Given the description of an element on the screen output the (x, y) to click on. 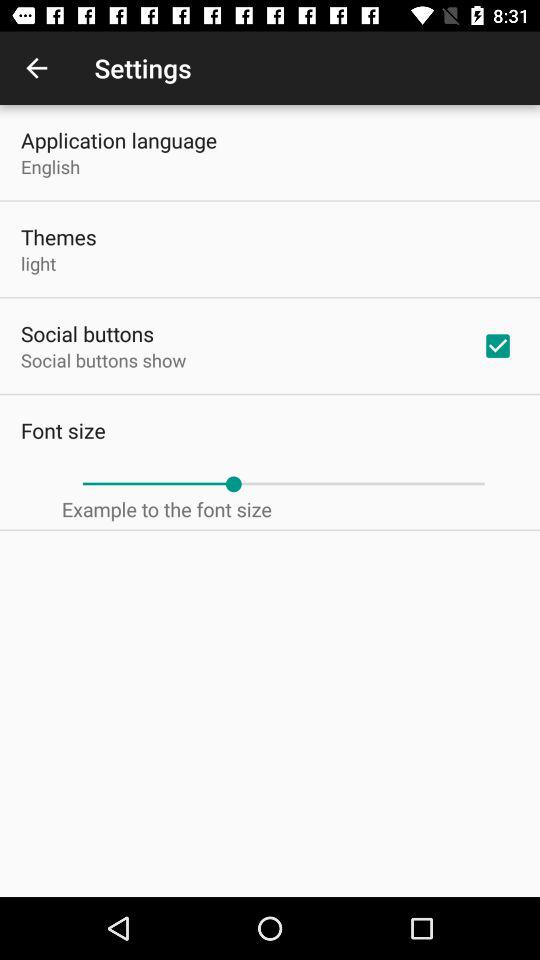
open item below font size (283, 484)
